Given the description of an element on the screen output the (x, y) to click on. 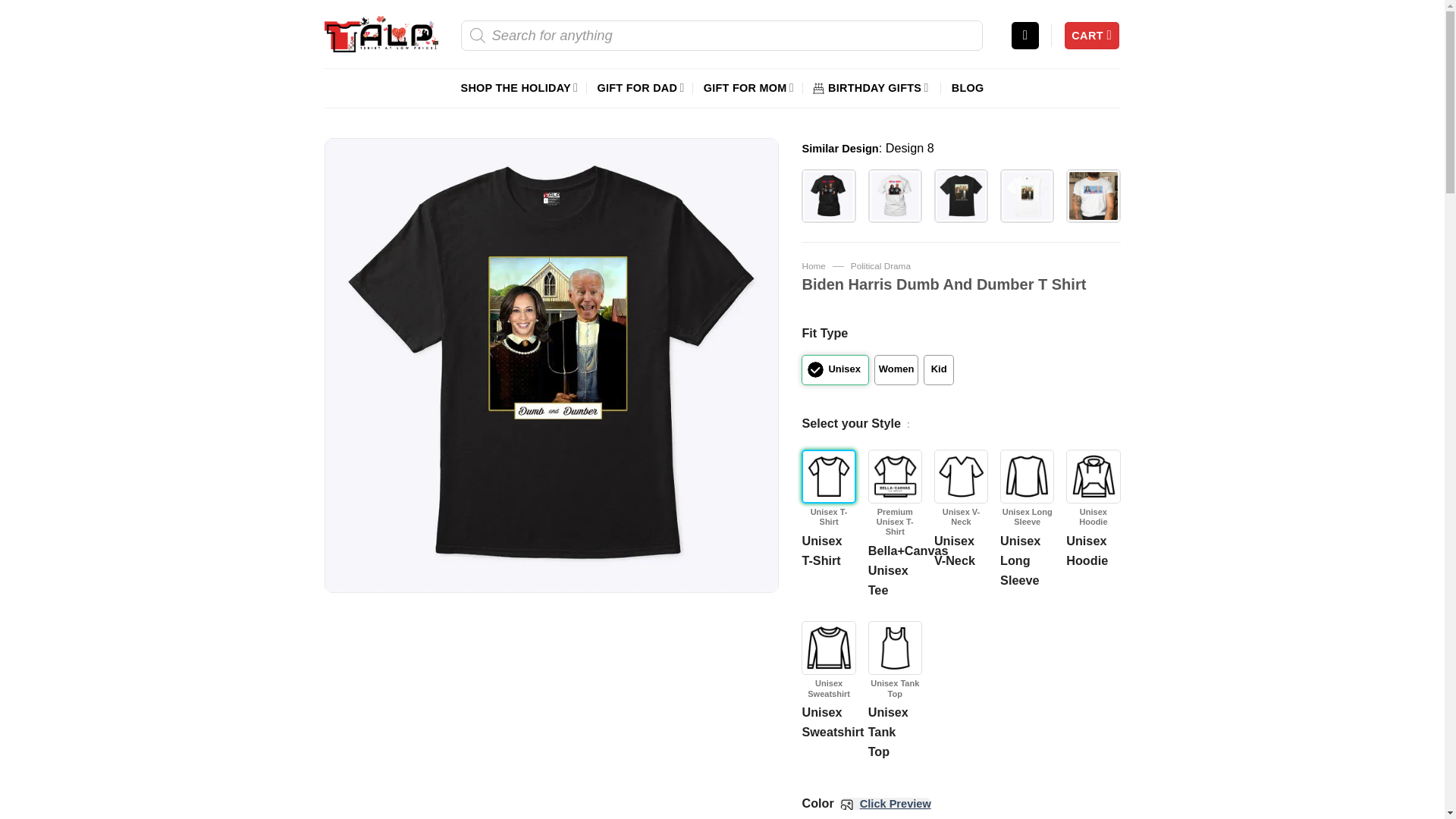
GIFT FOR DAD (640, 87)
GIFT FOR MOM (748, 87)
SHOP THE HOLIDAY (519, 87)
Dumb And Dumber Board Shirt (1092, 195)
BIRTHDAY GIFTS (872, 87)
Unisex (834, 369)
CART (1091, 35)
Kid (938, 369)
Dumb And Dumber Shirt Anti Biden Anti Harris (829, 195)
Joe Biden Dumb And Dumber T Shirt Anti Joe Biden (894, 195)
Cart (1091, 35)
Women (896, 369)
